Given the description of an element on the screen output the (x, y) to click on. 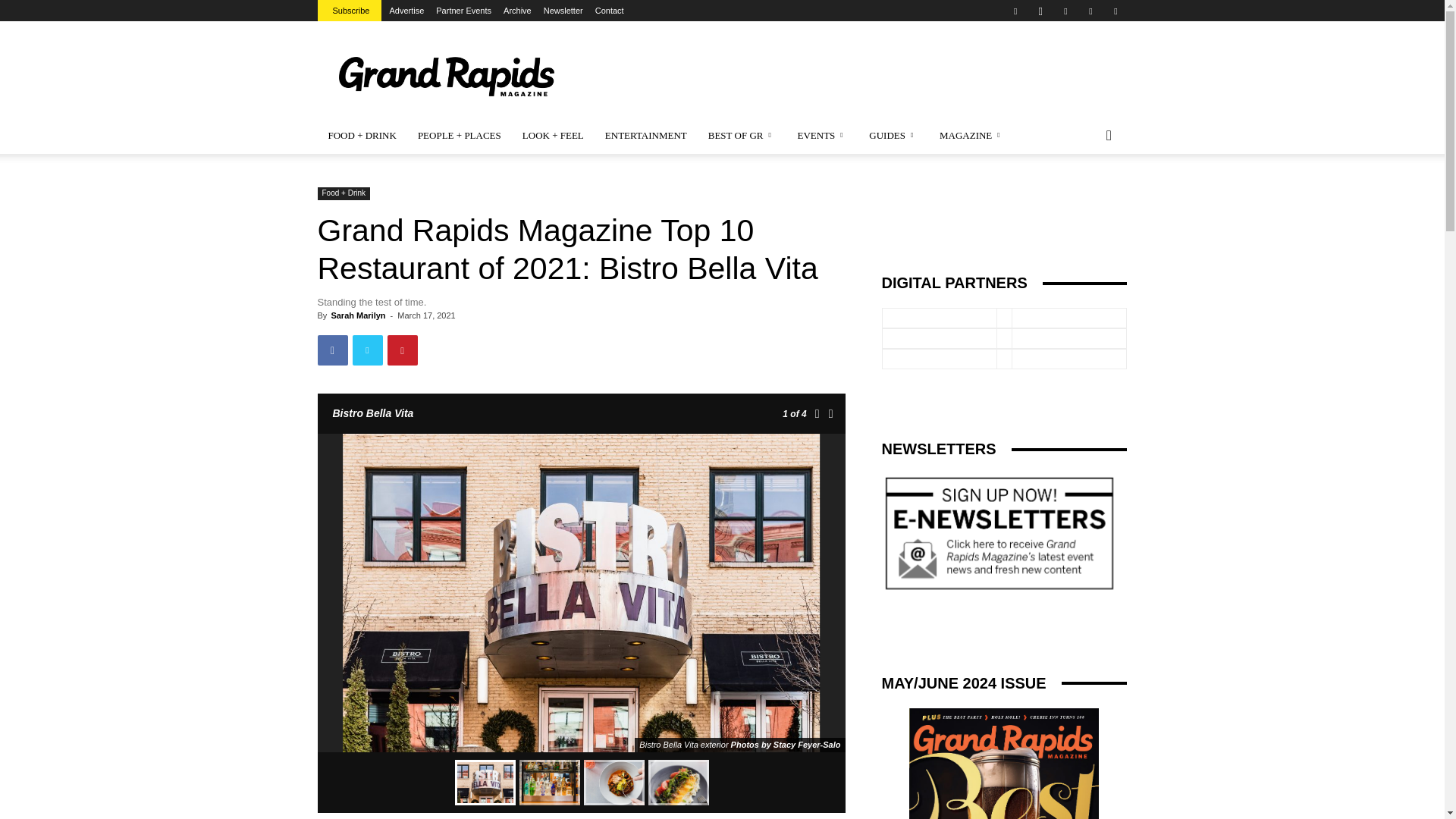
Pinterest (1065, 10)
Youtube (1114, 10)
Twitter (1090, 10)
Facebook (1015, 10)
Posts by Sarah Marilyn (357, 315)
Instagram (1040, 10)
